Given the description of an element on the screen output the (x, y) to click on. 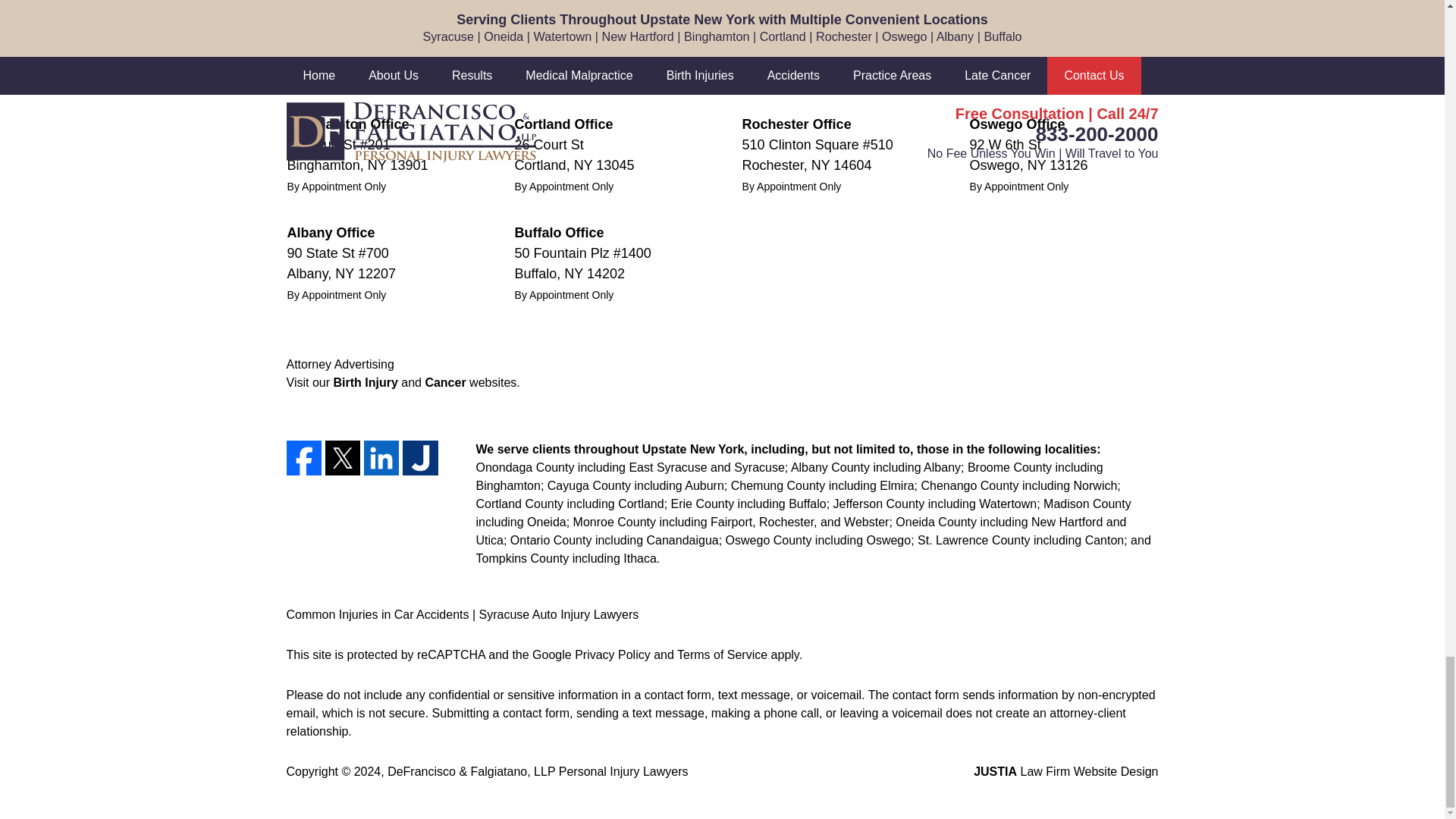
LinkedIn (381, 457)
Twitter (341, 457)
Facebook (303, 457)
Justia (420, 457)
